Given the description of an element on the screen output the (x, y) to click on. 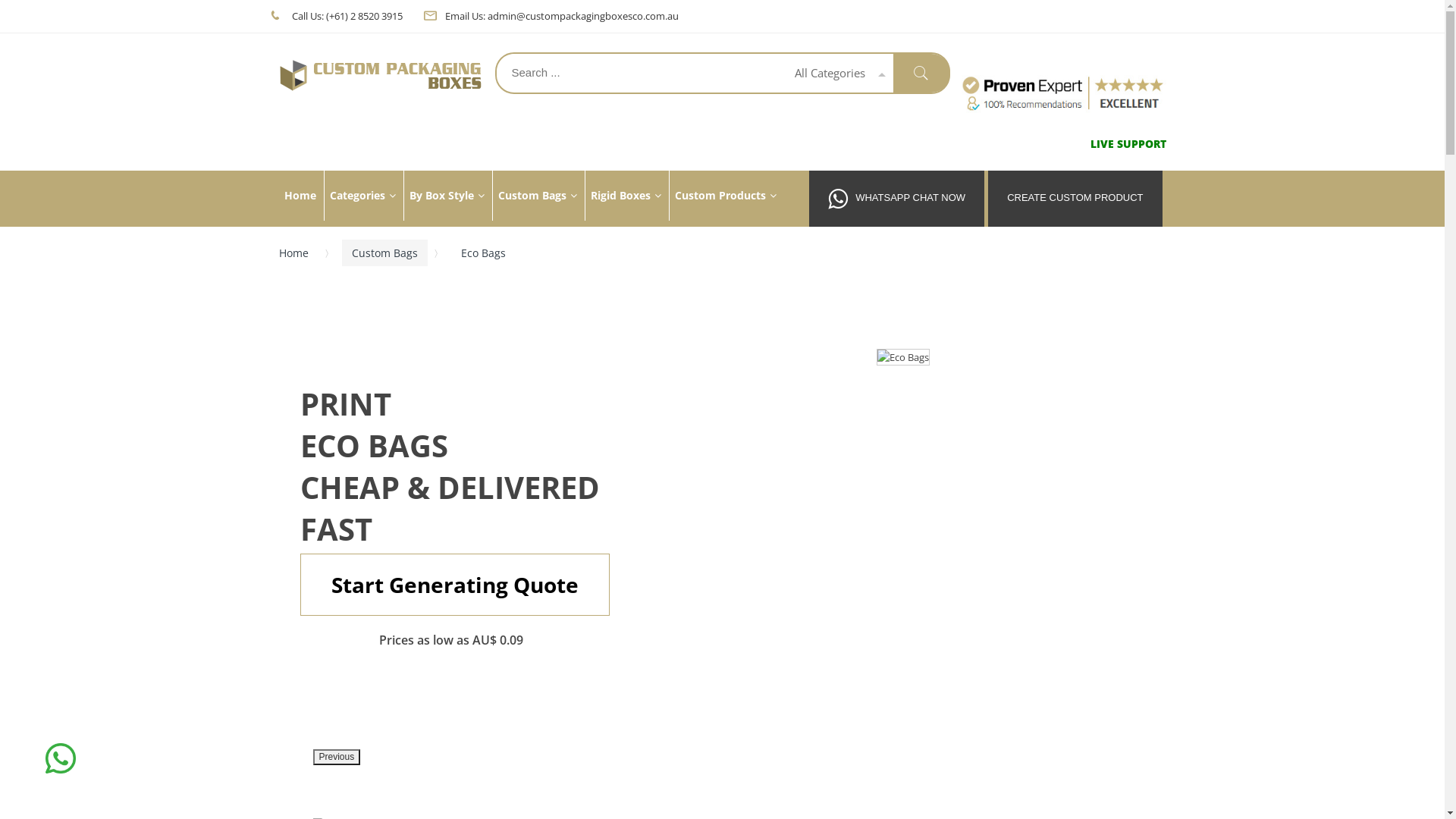
CREATE CUSTOM PRODUCT Element type: text (1074, 198)
LIVE SUPPORT Element type: text (1128, 143)
Start Generating Quote Element type: text (454, 584)
Call Us: (+61) 2 8520 3915 Element type: text (345, 15)
Rigid Boxes Element type: text (624, 195)
Home Element type: text (300, 195)
CustomPackagingBoxes Element type: hover (381, 74)
Custom Bags Element type: text (536, 195)
Home Element type: text (298, 252)
All Categories Element type: text (833, 72)
By Box Style Element type: text (446, 195)
Previous Element type: text (336, 757)
Search Element type: hover (921, 72)
Categories Element type: text (361, 195)
WHATSAPP CHAT NOW Element type: text (896, 198)
Eco Bags Element type: hover (902, 356)
Custom Products Element type: text (724, 195)
Email Us: admin@custompackagingboxesco.com.au Element type: text (560, 15)
Custom Bags Element type: text (383, 252)
